Given the description of an element on the screen output the (x, y) to click on. 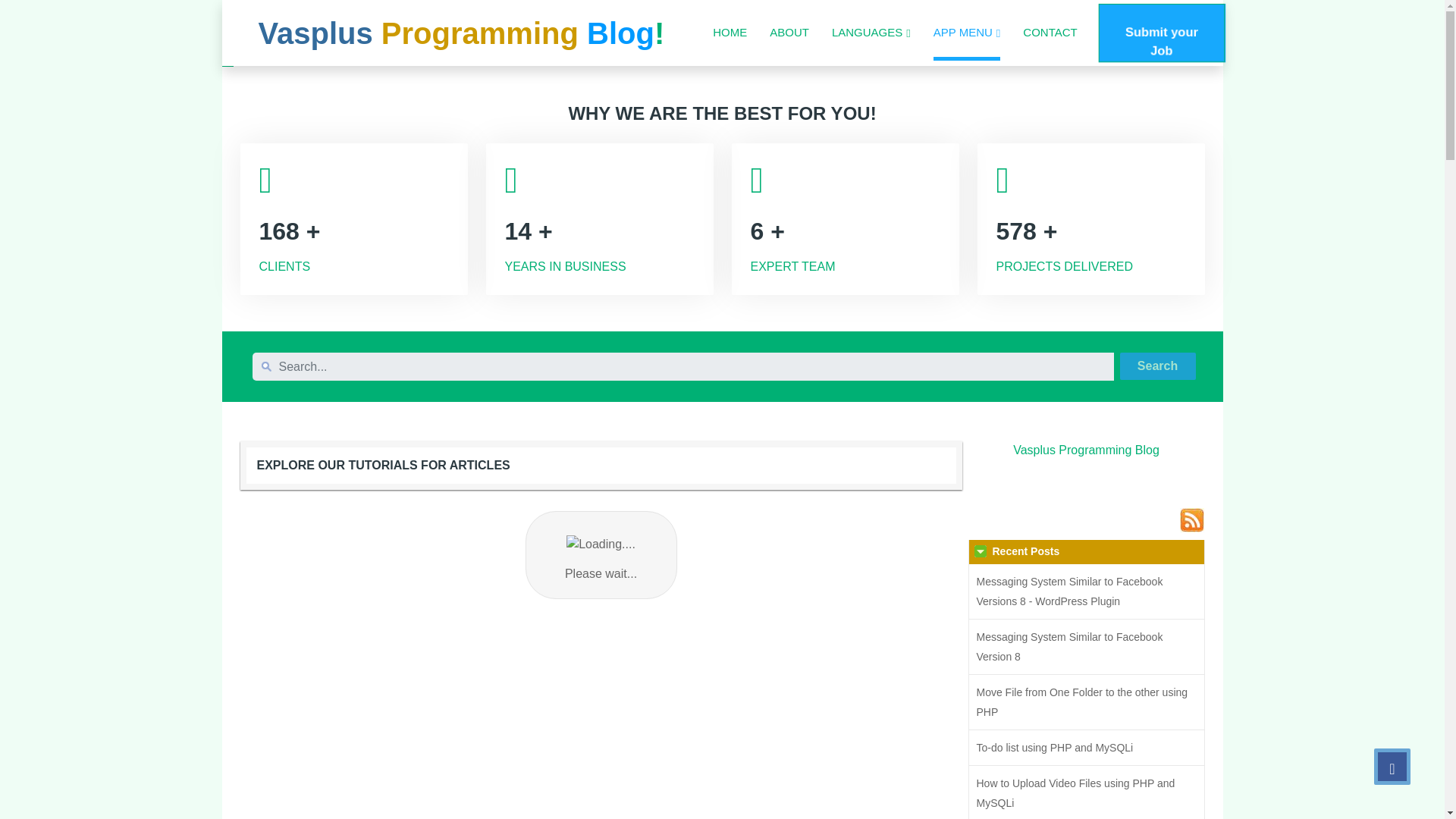
Messaging System Similar to Facebook Version 8 (1086, 646)
Messaging System Similar to Facebook Version 8 (1086, 646)
Vasplus Programming Blog (1085, 449)
LANGUAGES (871, 32)
Vasplus Programming Blog Feeds (1191, 519)
To-do list using PHP and MySQLi (1086, 747)
CONTACT (1050, 32)
Move File from One Folder to the other using PHP (1086, 701)
Search (1157, 366)
